Given the description of an element on the screen output the (x, y) to click on. 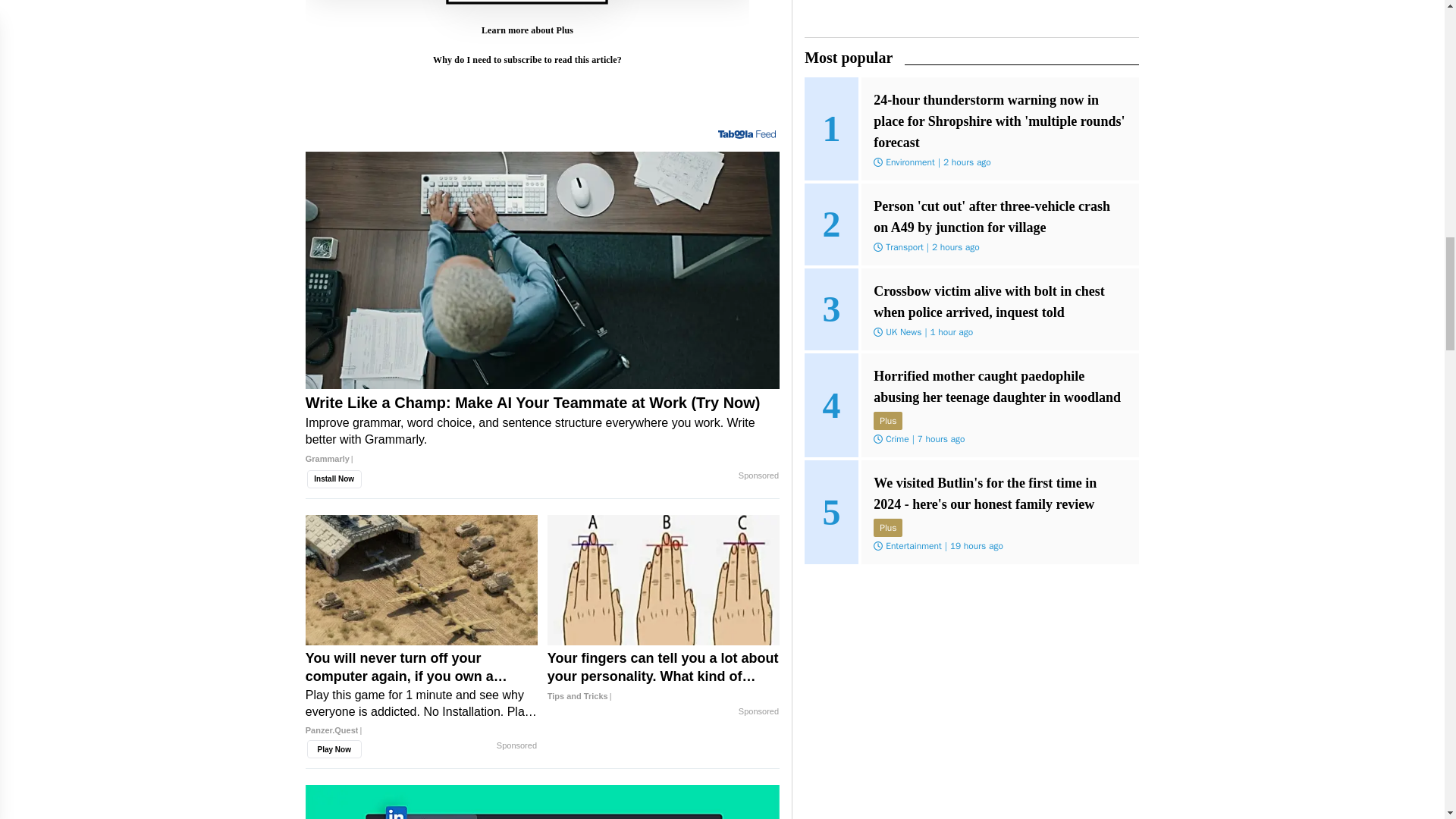
What is your writing missing? (541, 801)
offer-0-CP7Gz (526, 55)
